Given the description of an element on the screen output the (x, y) to click on. 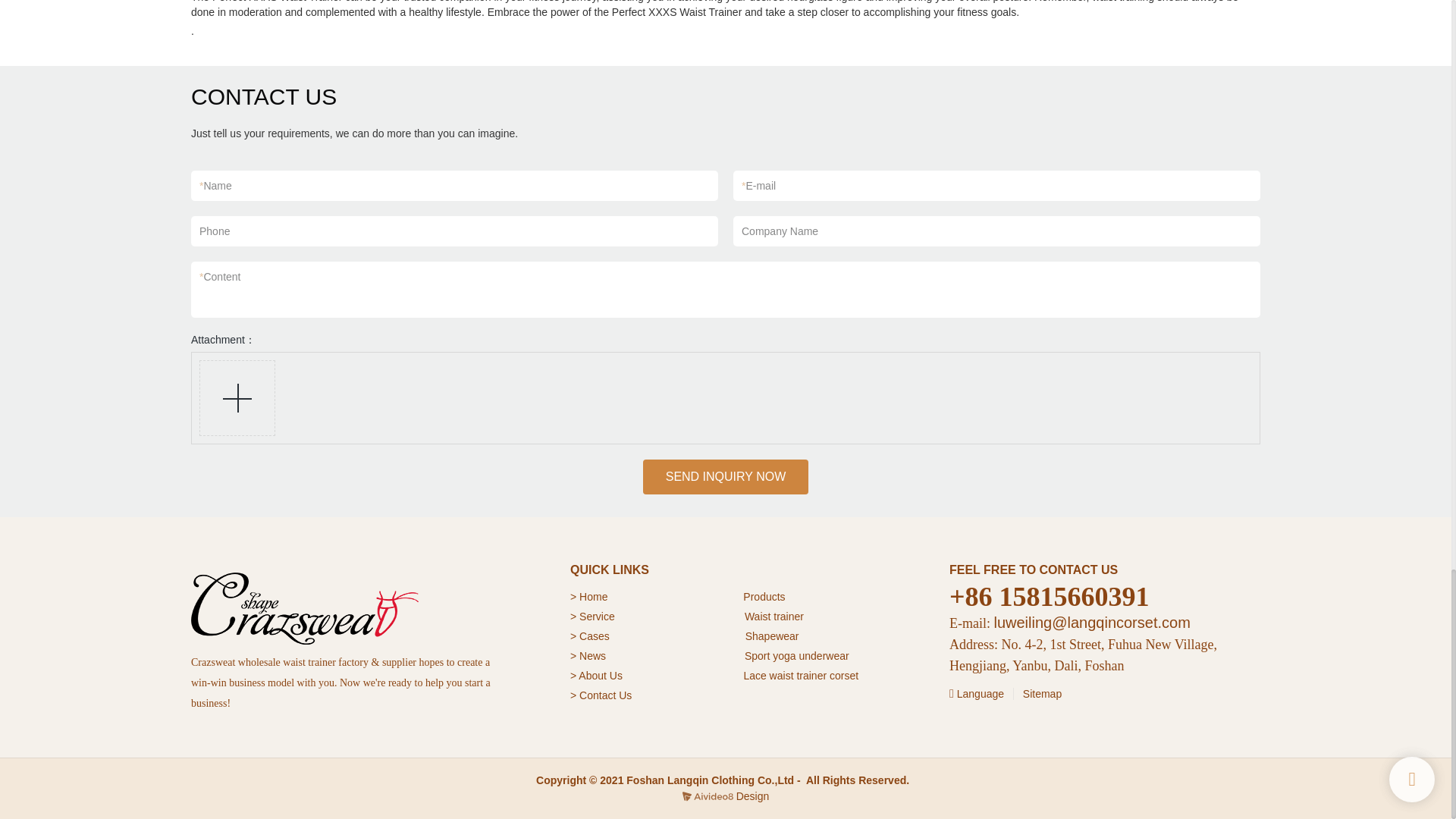
roducts (768, 596)
Waist trainer (773, 616)
Home  (594, 596)
SEND INQUIRY NOW (726, 476)
